Given the description of an element on the screen output the (x, y) to click on. 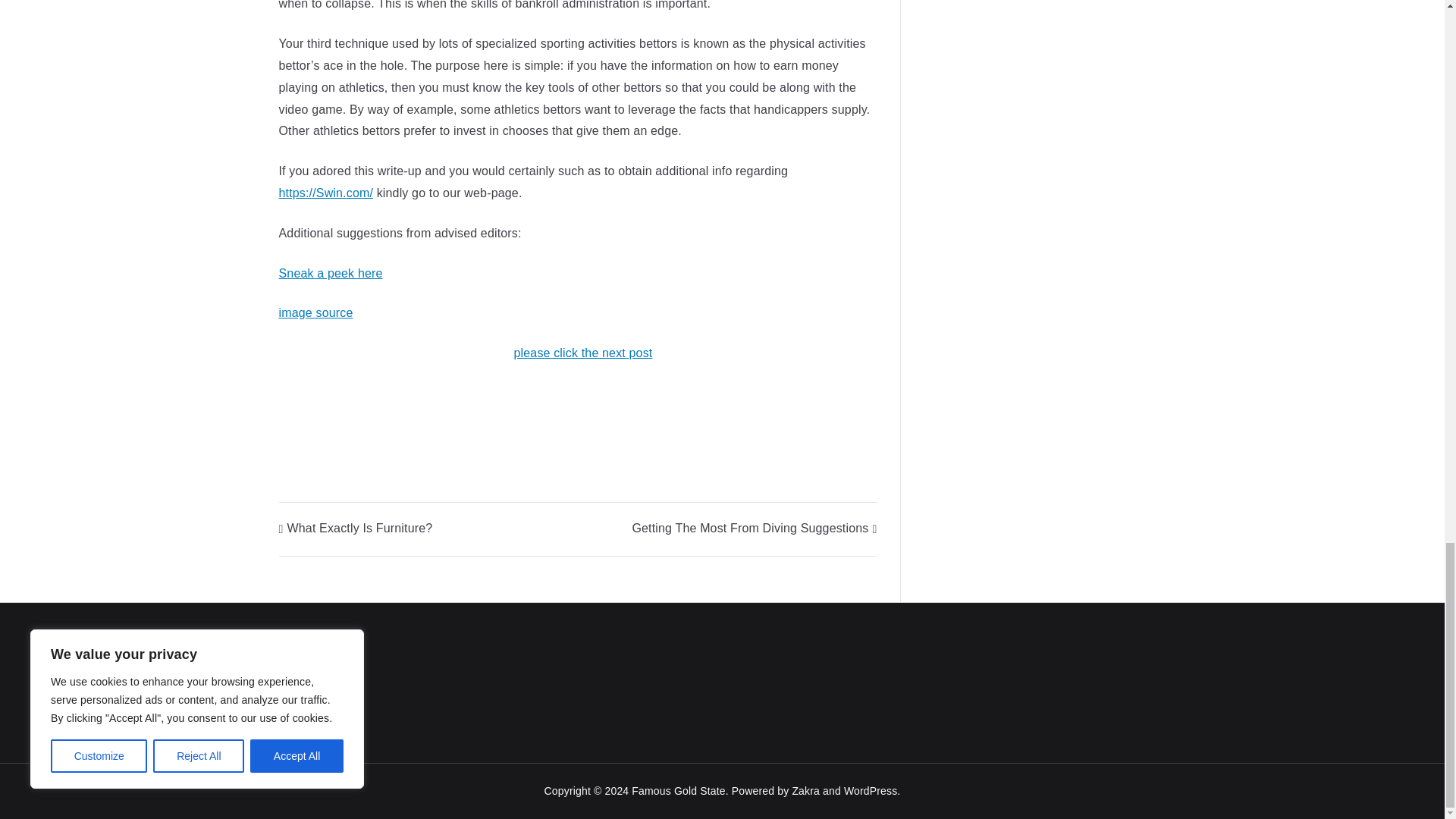
image source (316, 312)
Sneak a peek here (330, 273)
Famous Gold State (678, 790)
Getting The Most From Diving Suggestions (753, 527)
please click the next post (582, 352)
WordPress (870, 790)
What Exactly Is Furniture? (355, 527)
Zakra (805, 790)
